Given the description of an element on the screen output the (x, y) to click on. 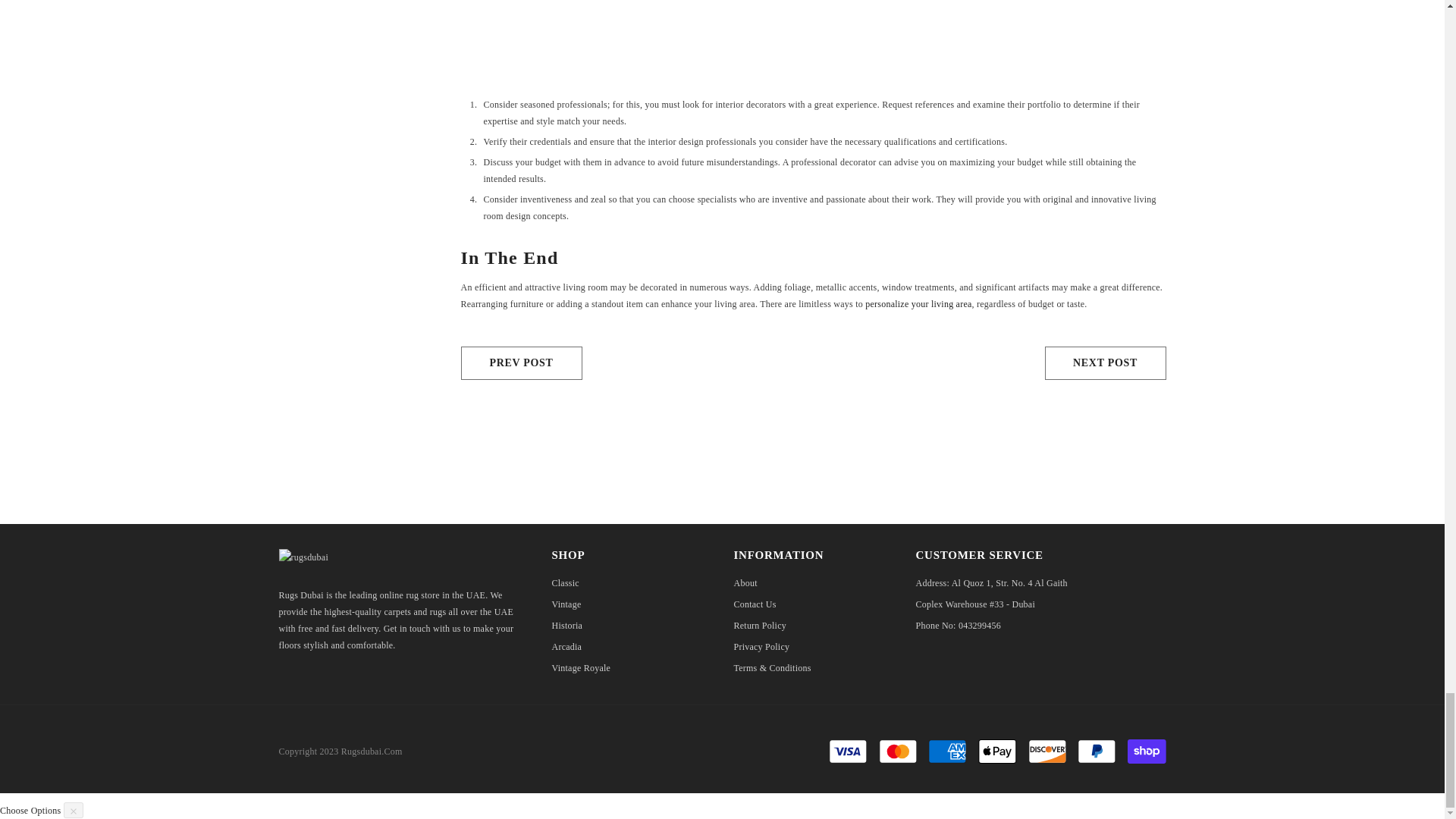
American Express (947, 751)
PayPal (1096, 751)
Mastercard (898, 751)
Visa (847, 751)
Discover (1047, 751)
Apple Pay (997, 751)
